Given the description of an element on the screen output the (x, y) to click on. 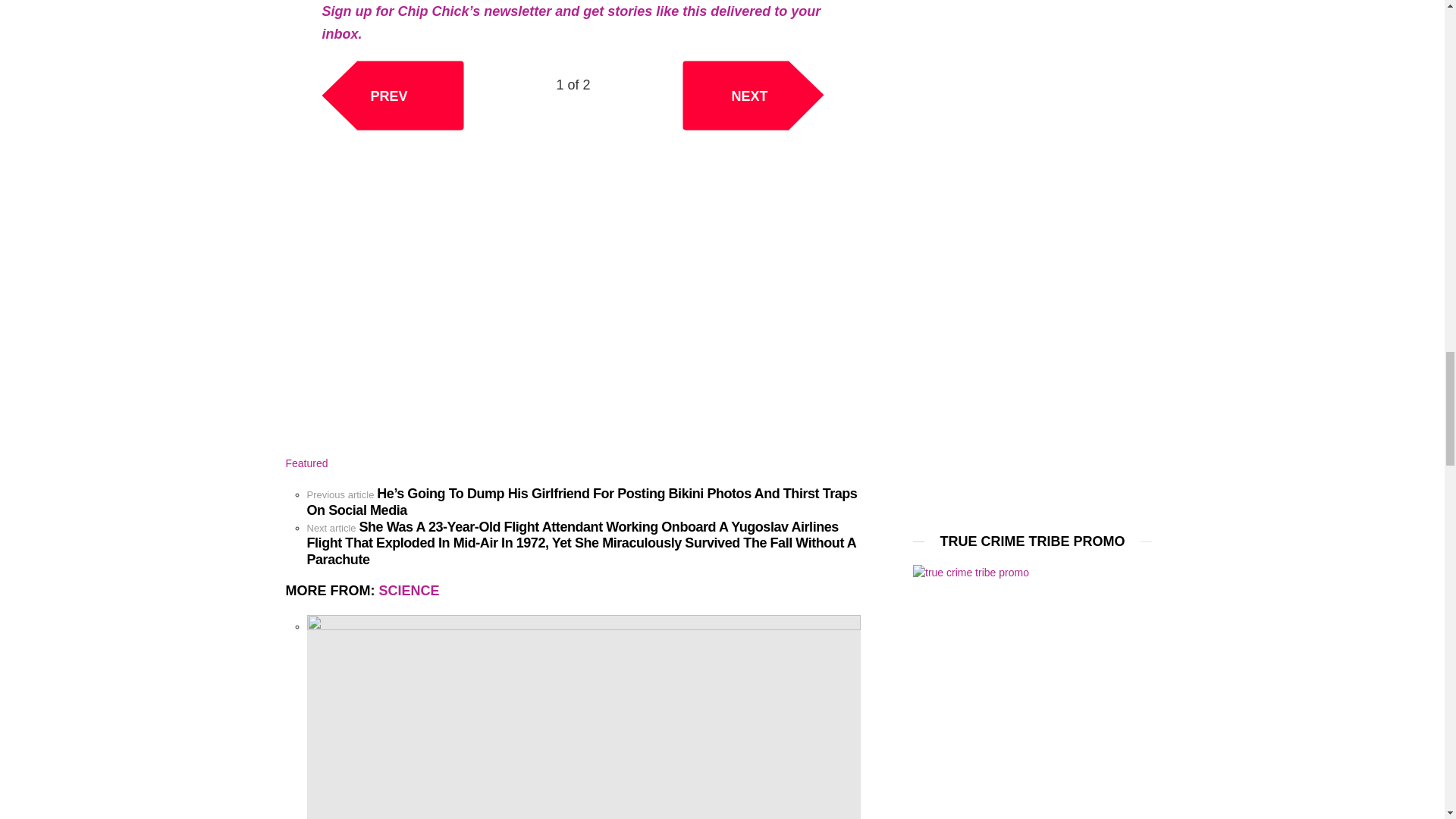
Featured (306, 463)
NEXT (753, 94)
PREV (392, 94)
